Given the description of an element on the screen output the (x, y) to click on. 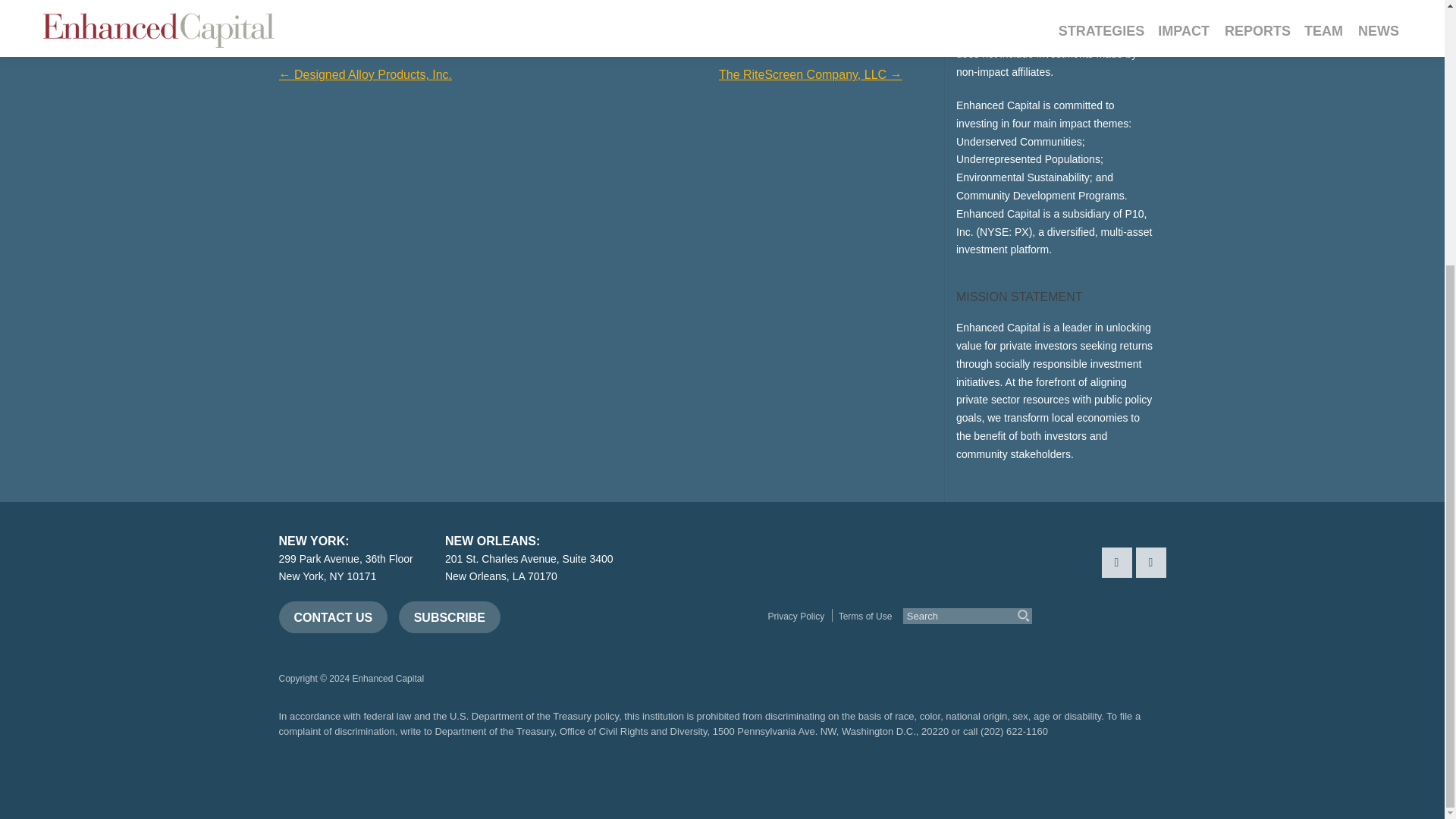
SUBSCRIBE (449, 617)
Go (1023, 615)
Site will open in a new tab or window (1052, 649)
Site will open in a new tab or window (811, 649)
Site will open in a new tab or window (991, 649)
CONTACT US (333, 617)
Site will open in a new tab or window (928, 649)
Go (1023, 615)
Site will open in a new tab or window (863, 649)
Terms of Use (865, 615)
